Given the description of an element on the screen output the (x, y) to click on. 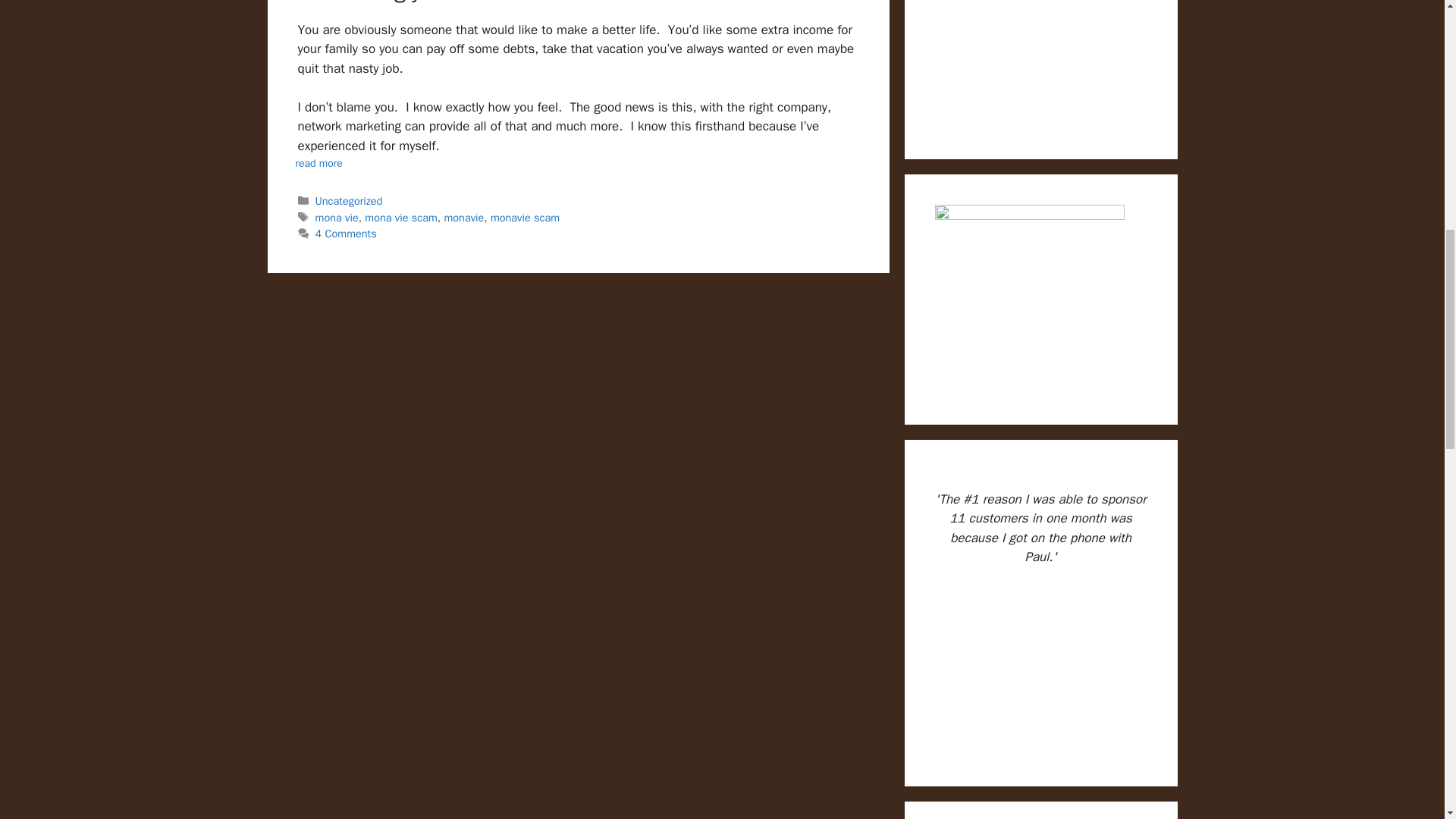
monavie scam (524, 217)
Uncategorized (348, 201)
Scroll back to top (1406, 720)
mona vie scam (400, 217)
YouTube video player (1040, 668)
mona vie (336, 217)
read more (319, 163)
monavie (463, 217)
4 Comments (346, 233)
